Given the description of an element on the screen output the (x, y) to click on. 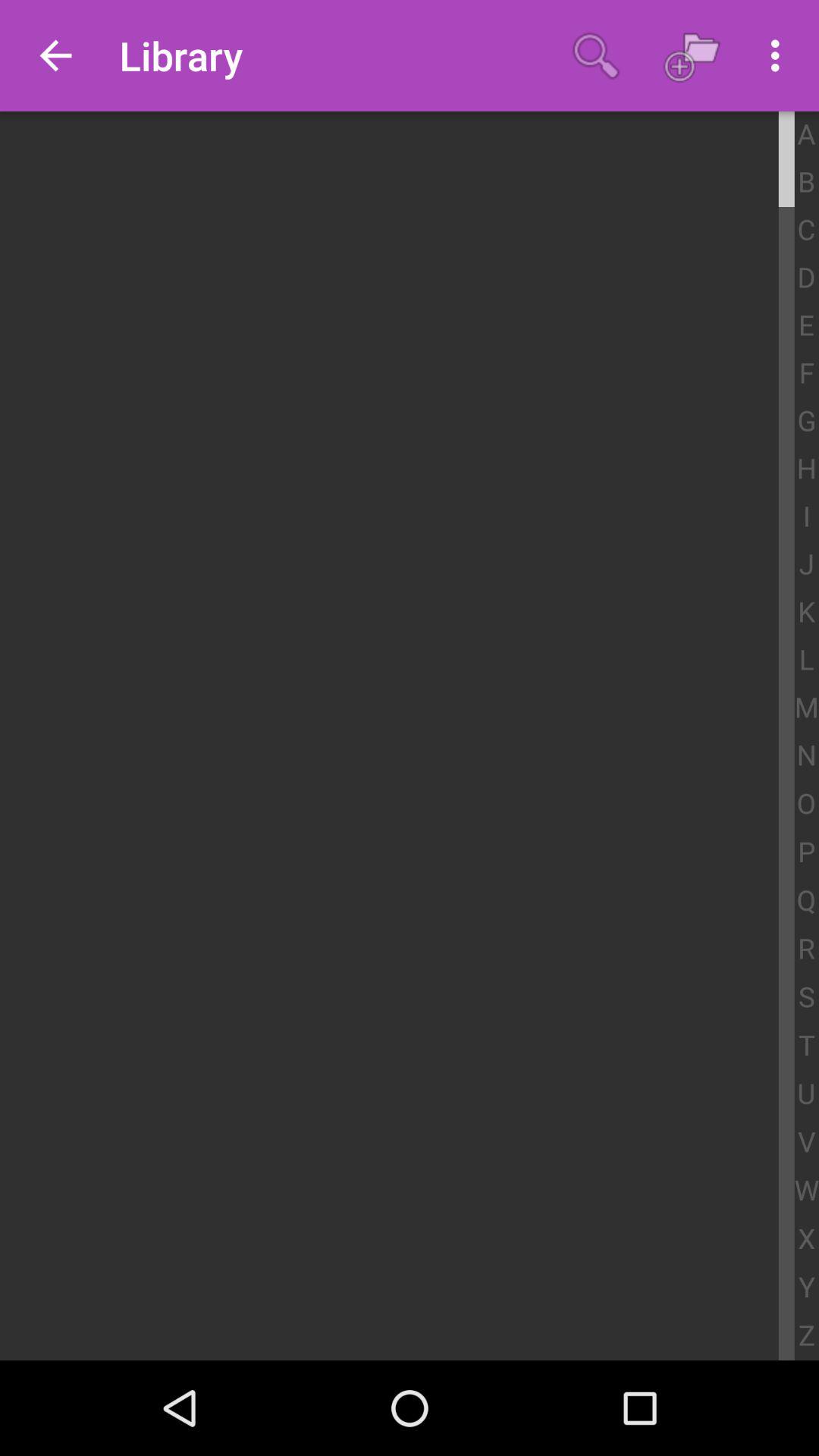
swipe until the y item (806, 1287)
